Given the description of an element on the screen output the (x, y) to click on. 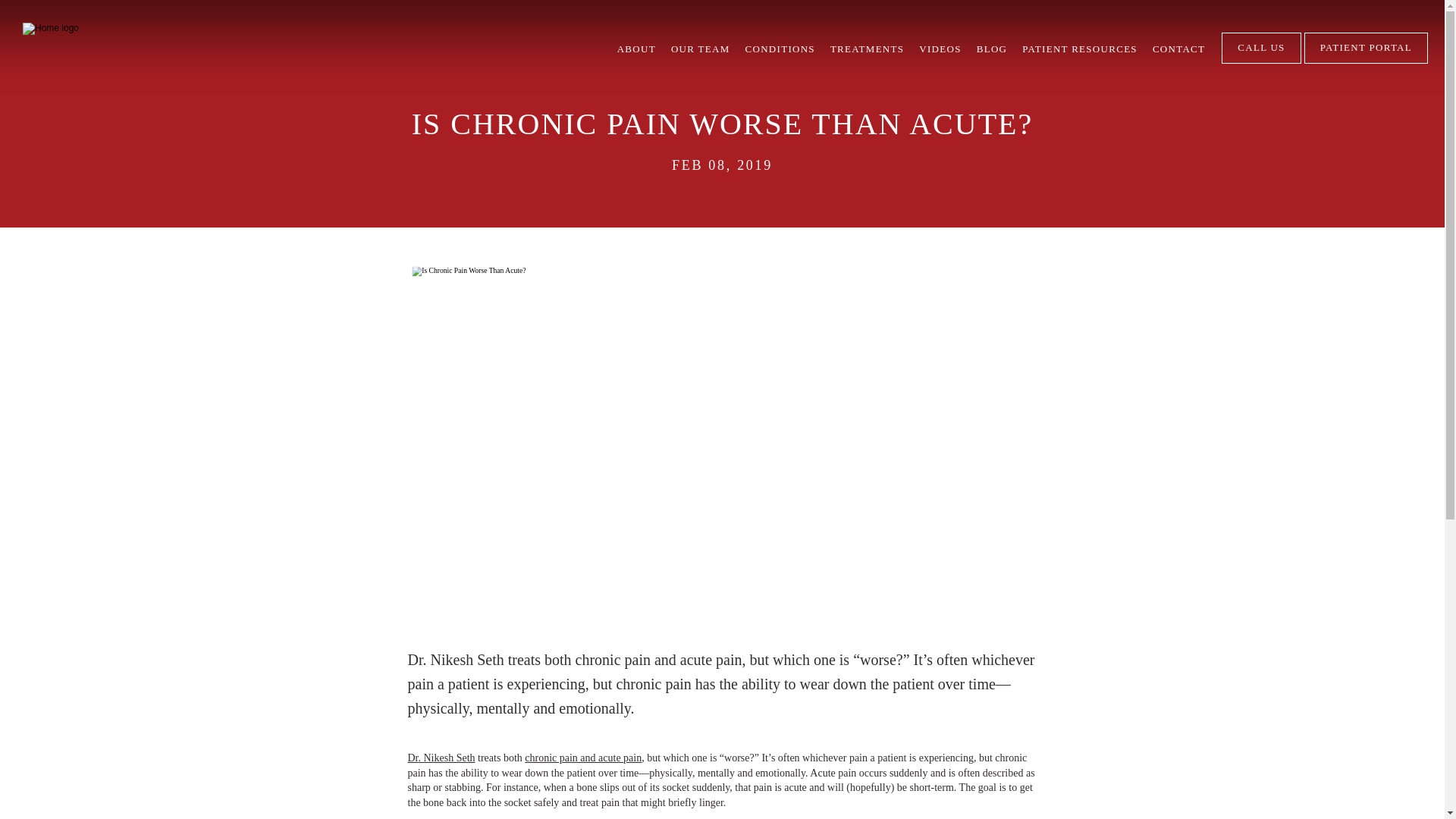
OUR TEAM (700, 48)
TREATMENTS (866, 48)
CONDITIONS (780, 48)
ABOUT (636, 48)
